Given the description of an element on the screen output the (x, y) to click on. 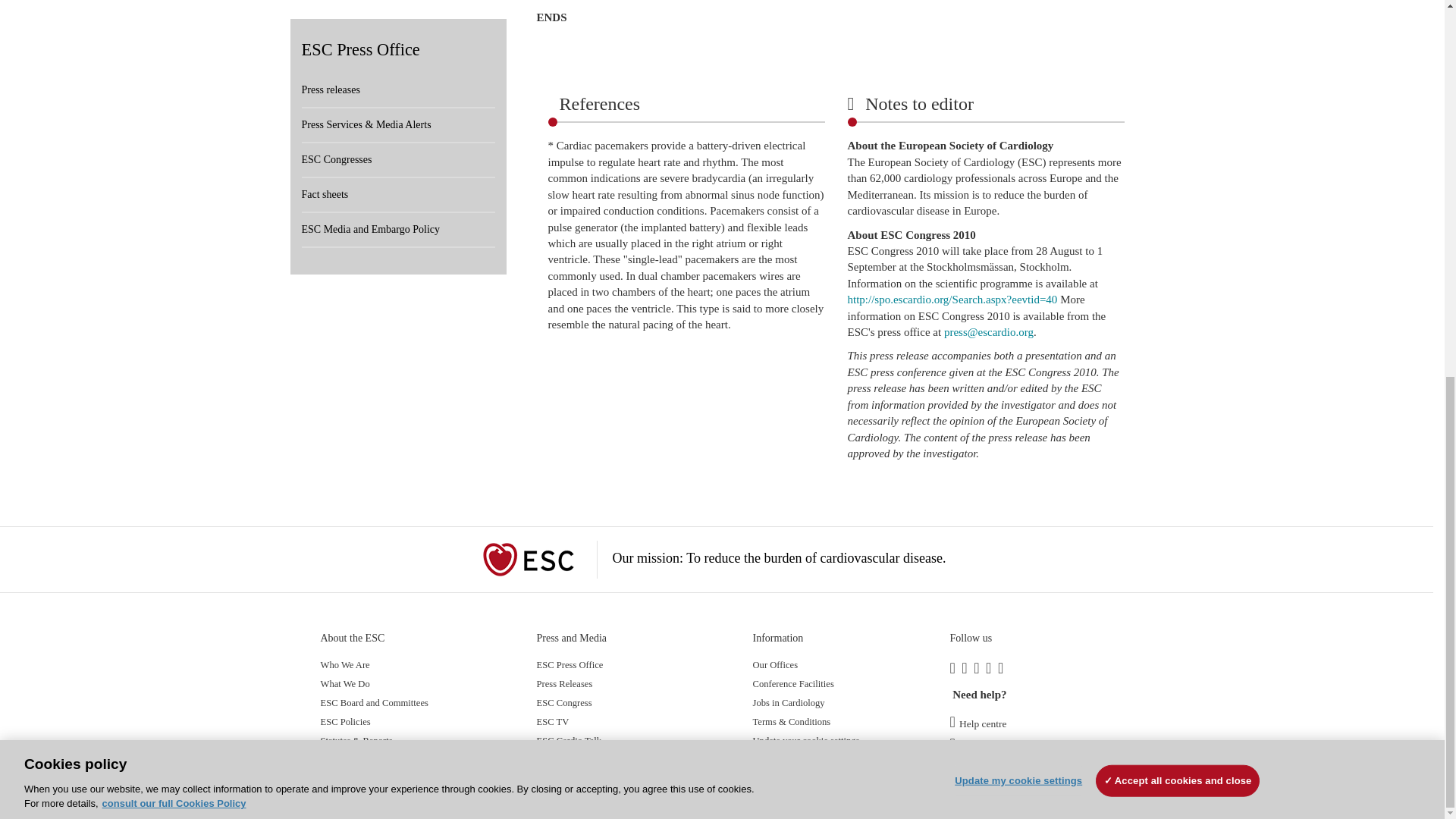
Contact us (976, 745)
You Tube (991, 669)
X (979, 669)
 Help centre (977, 723)
Facebook (954, 669)
LinkedIn (967, 669)
